Given the description of an element on the screen output the (x, y) to click on. 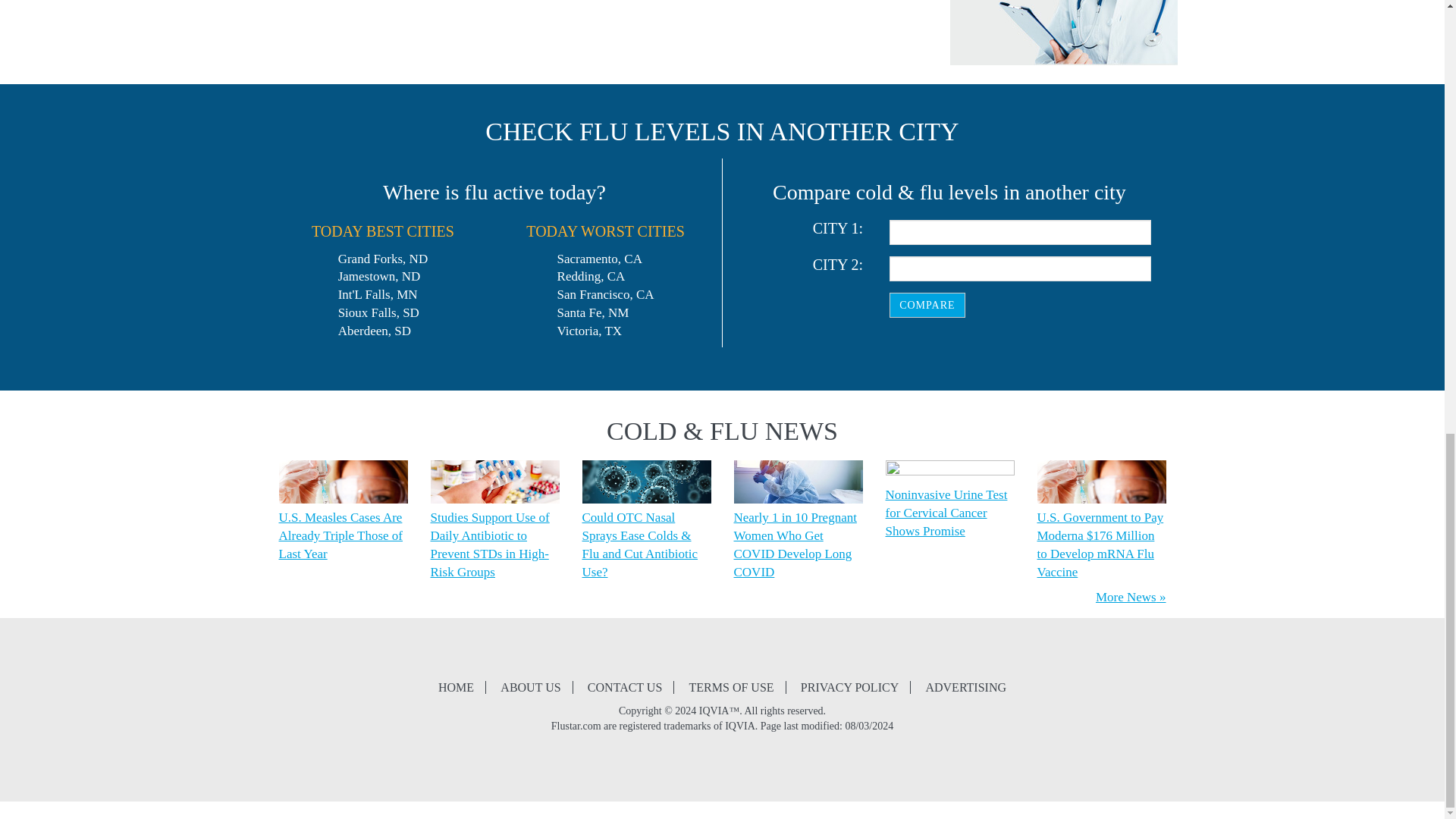
Grand Forks, ND (382, 258)
Jamestown, ND (378, 276)
